Given the description of an element on the screen output the (x, y) to click on. 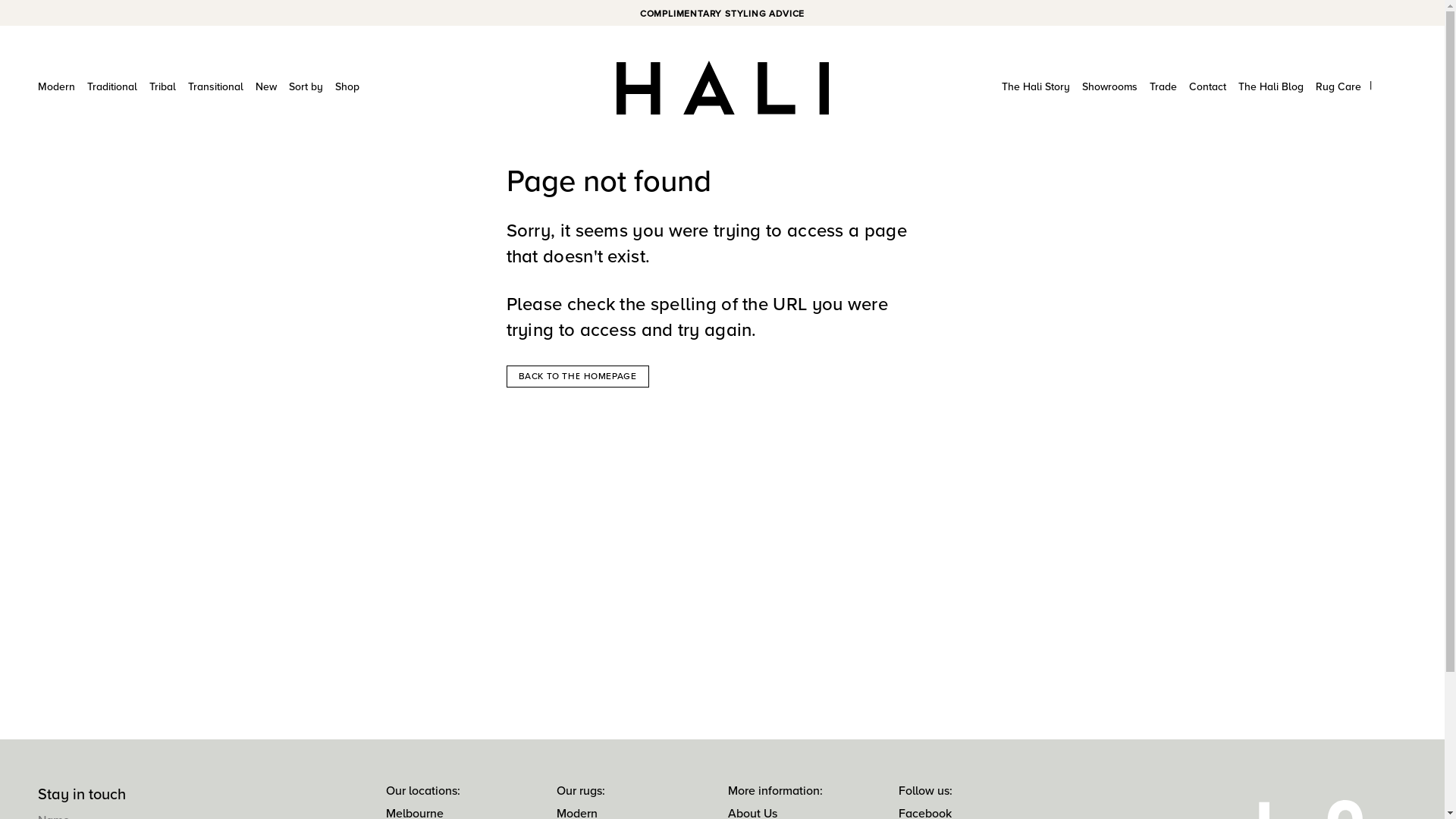
The Hali Story Element type: text (1035, 86)
Rug Care Element type: text (1338, 86)
Contact Element type: text (1207, 86)
Showrooms Element type: text (1109, 86)
Sort by Element type: text (305, 86)
Shop Element type: text (347, 86)
Modern Element type: text (56, 86)
New Element type: text (265, 86)
Transitional Element type: text (215, 86)
Traditional Element type: text (112, 86)
Tribal Element type: text (162, 86)
COMPLIMENTARY STYLING ADVICE Element type: text (722, 13)
BACK TO THE HOMEPAGE Element type: text (577, 376)
Trade Element type: text (1162, 86)
The Hali Blog Element type: text (1270, 86)
